Given the description of an element on the screen output the (x, y) to click on. 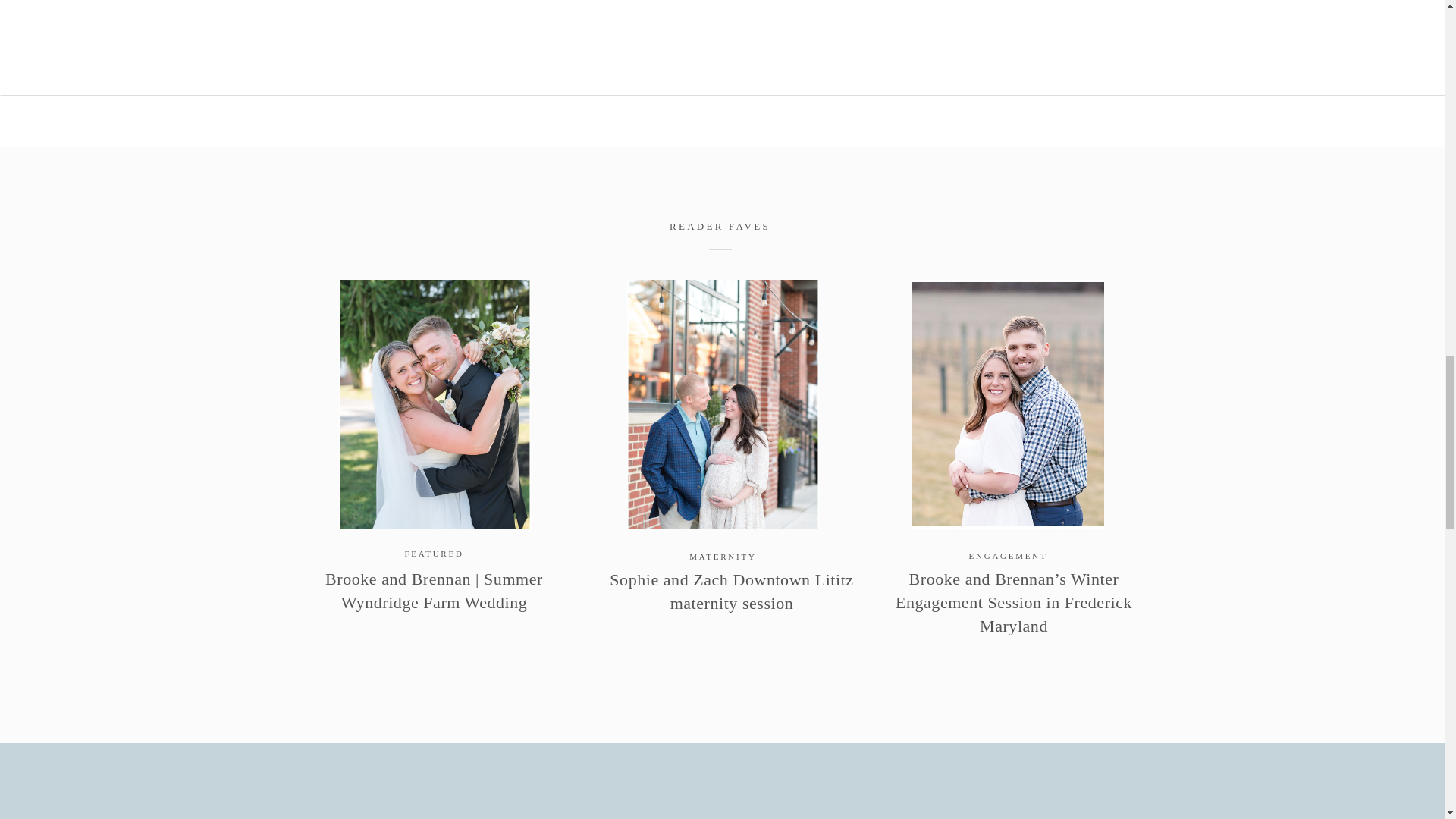
MATERNITY (721, 556)
Sophie and Zach Downtown Lititz maternity session (731, 591)
ENGAGEMENT (1008, 555)
FEATURED (433, 552)
